Given the description of an element on the screen output the (x, y) to click on. 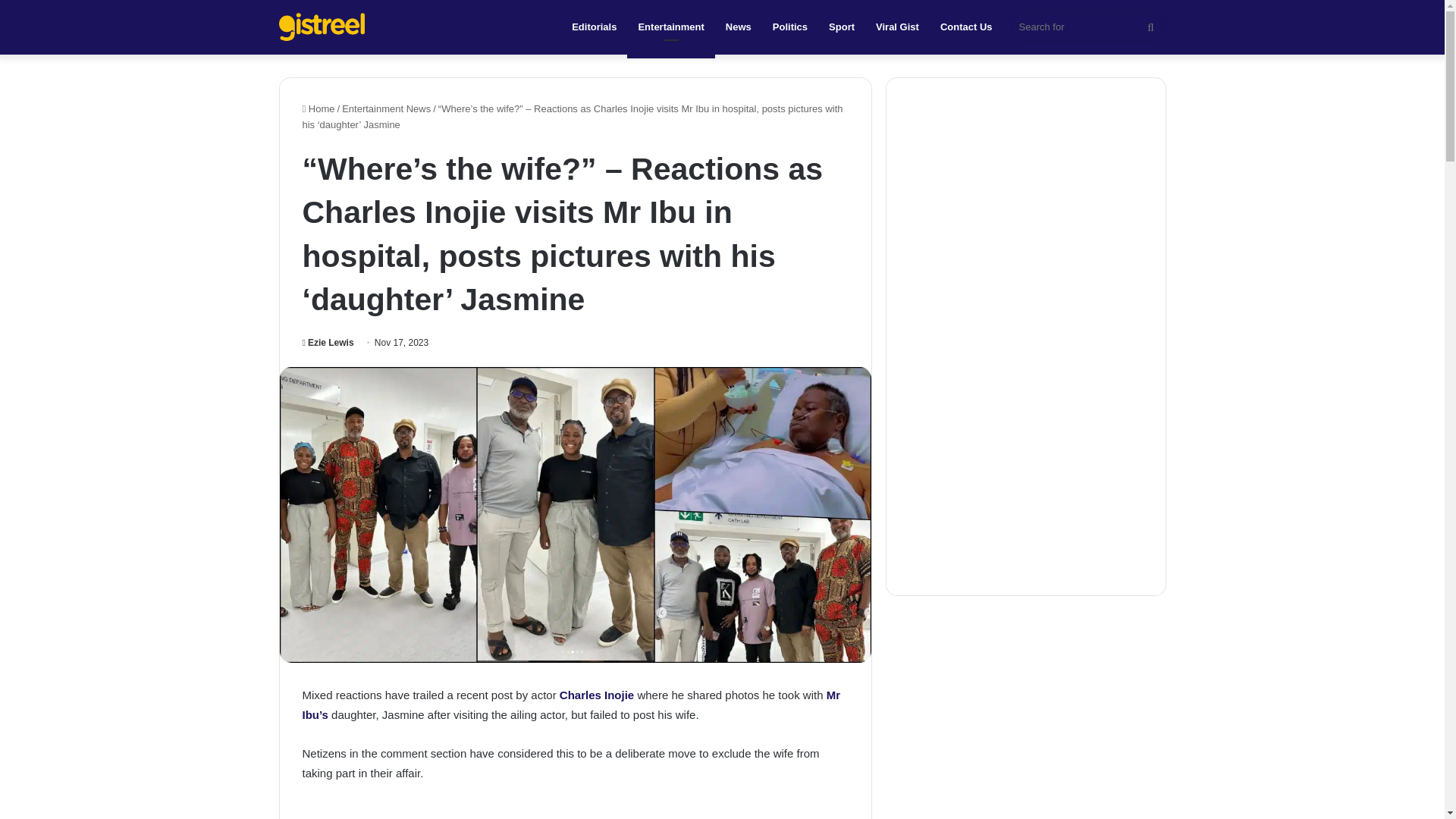
Ezie Lewis (327, 342)
Entertainment (670, 27)
Viral Gist (897, 27)
Charles Inojie (595, 694)
Entertainment News (386, 108)
Politics (789, 27)
Editorials (593, 27)
Ezie Lewis (327, 342)
Advertisement (574, 810)
Contact Us (966, 27)
